Given the description of an element on the screen output the (x, y) to click on. 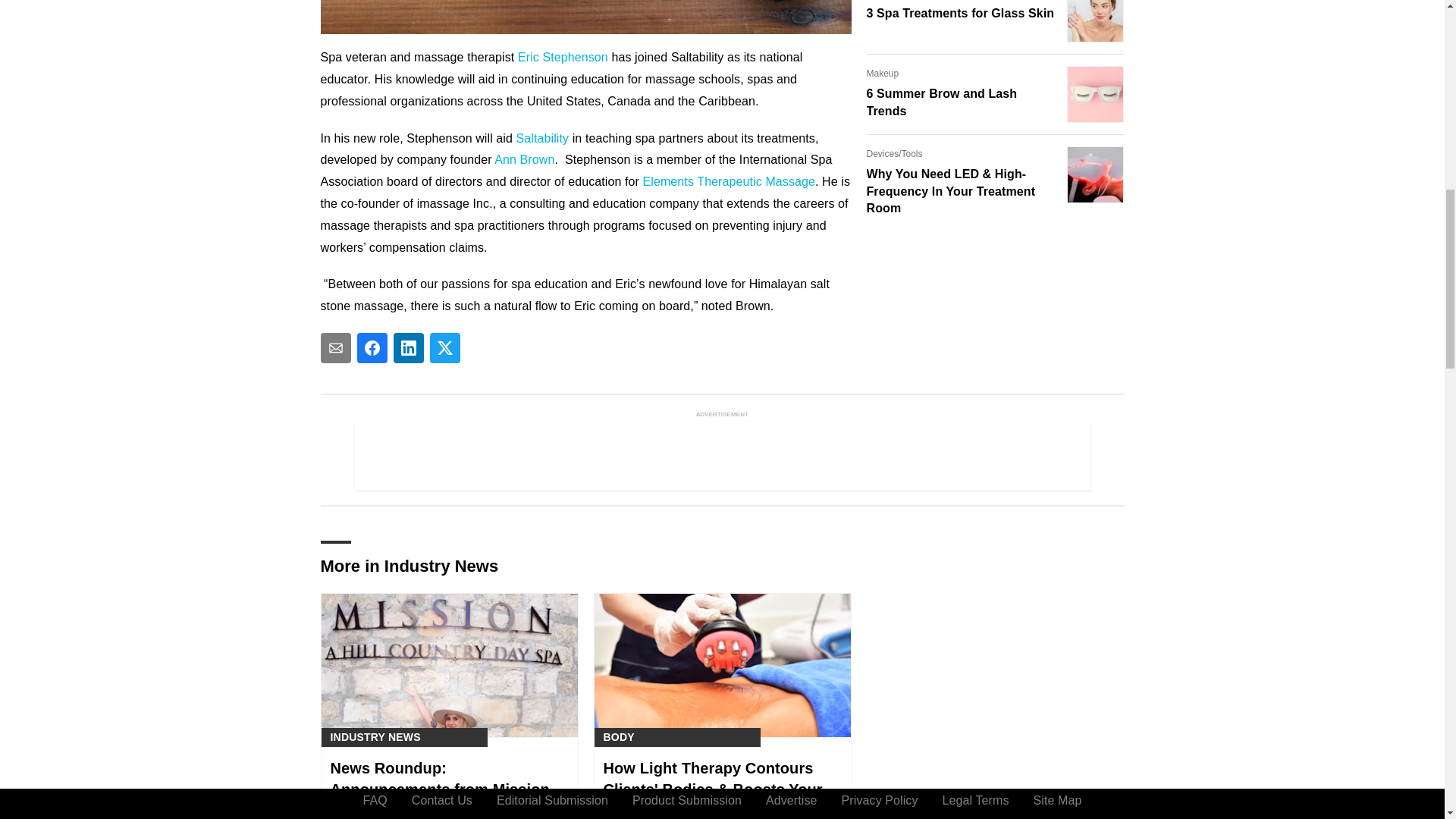
Share To facebook (371, 347)
Share To email (335, 347)
Share To linkedin (408, 347)
Share To twitter (444, 347)
